Given the description of an element on the screen output the (x, y) to click on. 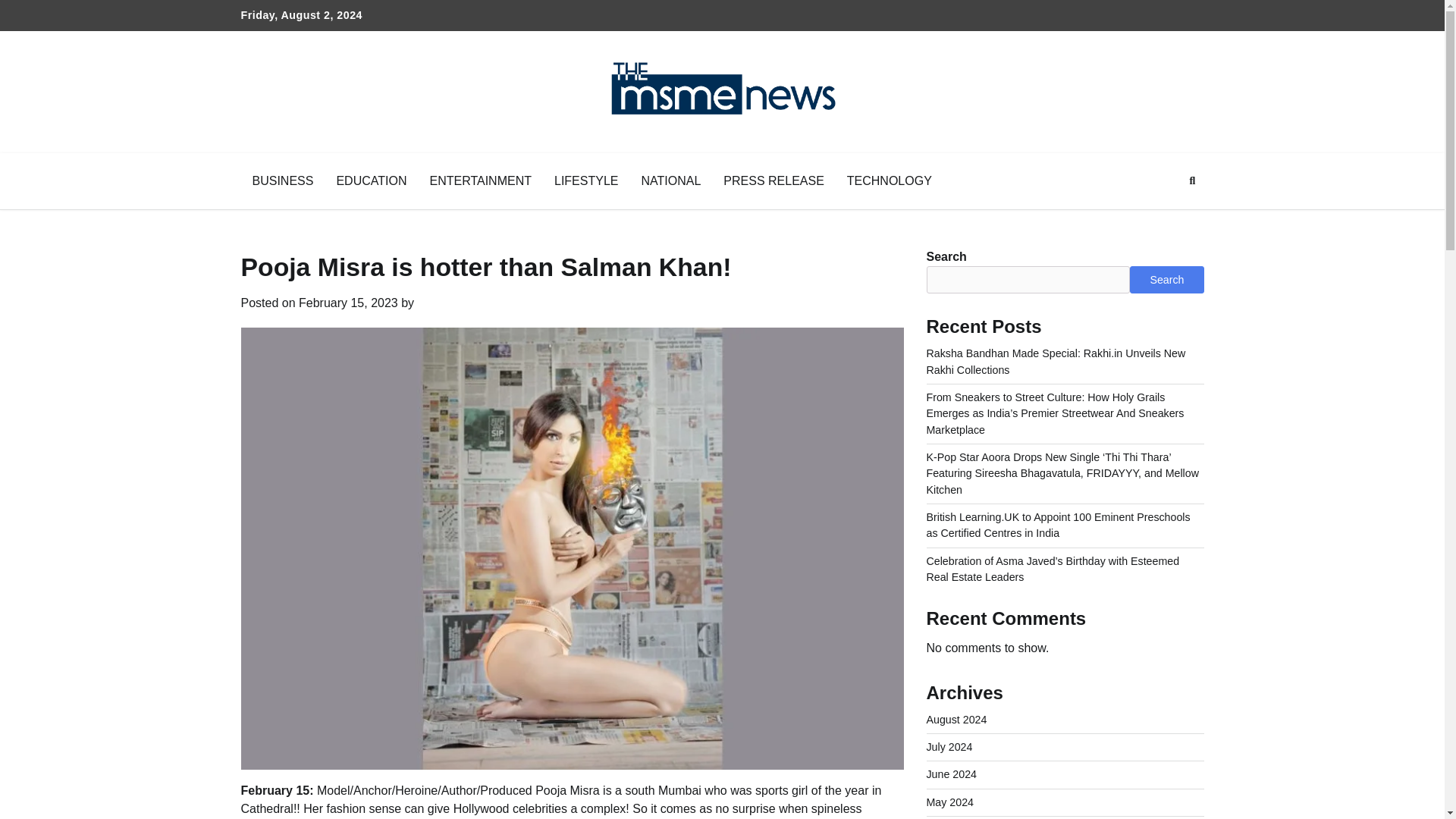
TECHNOLOGY (889, 180)
PRESS RELEASE (773, 180)
Search (1166, 279)
May 2024 (950, 802)
February 15, 2023 (347, 302)
Search (1164, 216)
August 2024 (956, 719)
EDUCATION (370, 180)
NATIONAL (669, 180)
ENTERTAINMENT (480, 180)
Search (1192, 180)
BUSINESS (282, 180)
LIFESTYLE (585, 180)
